Given the description of an element on the screen output the (x, y) to click on. 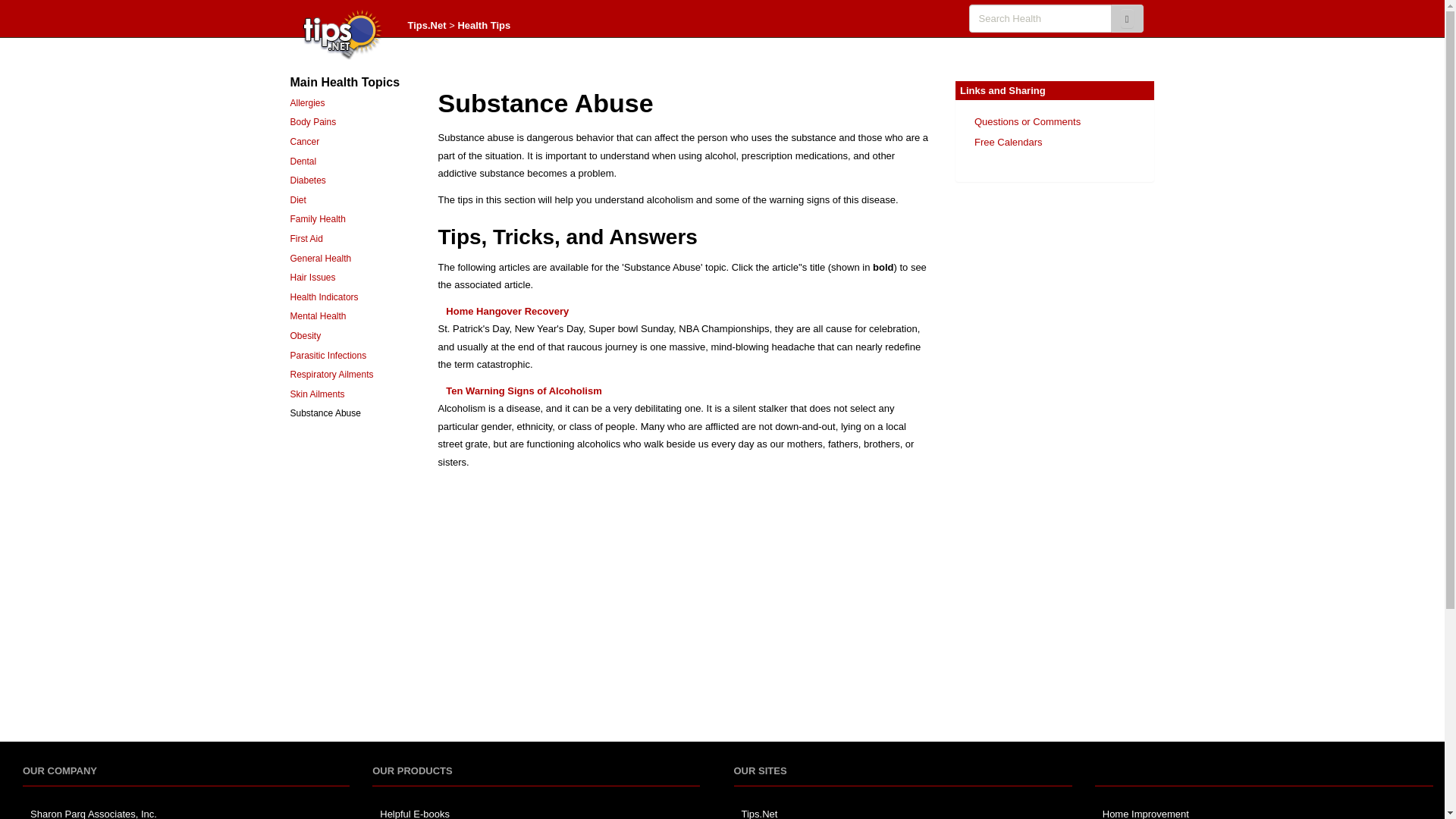
Allergies (306, 102)
Respiratory Ailments (330, 374)
Ten Warning Signs of Alcoholism (523, 390)
General Health (319, 258)
Health Tips (484, 25)
First Aid (305, 238)
Questions or Comments (1027, 120)
Helpful E-books (414, 813)
Tips.Net (426, 25)
Skin Ailments (316, 394)
